Given the description of an element on the screen output the (x, y) to click on. 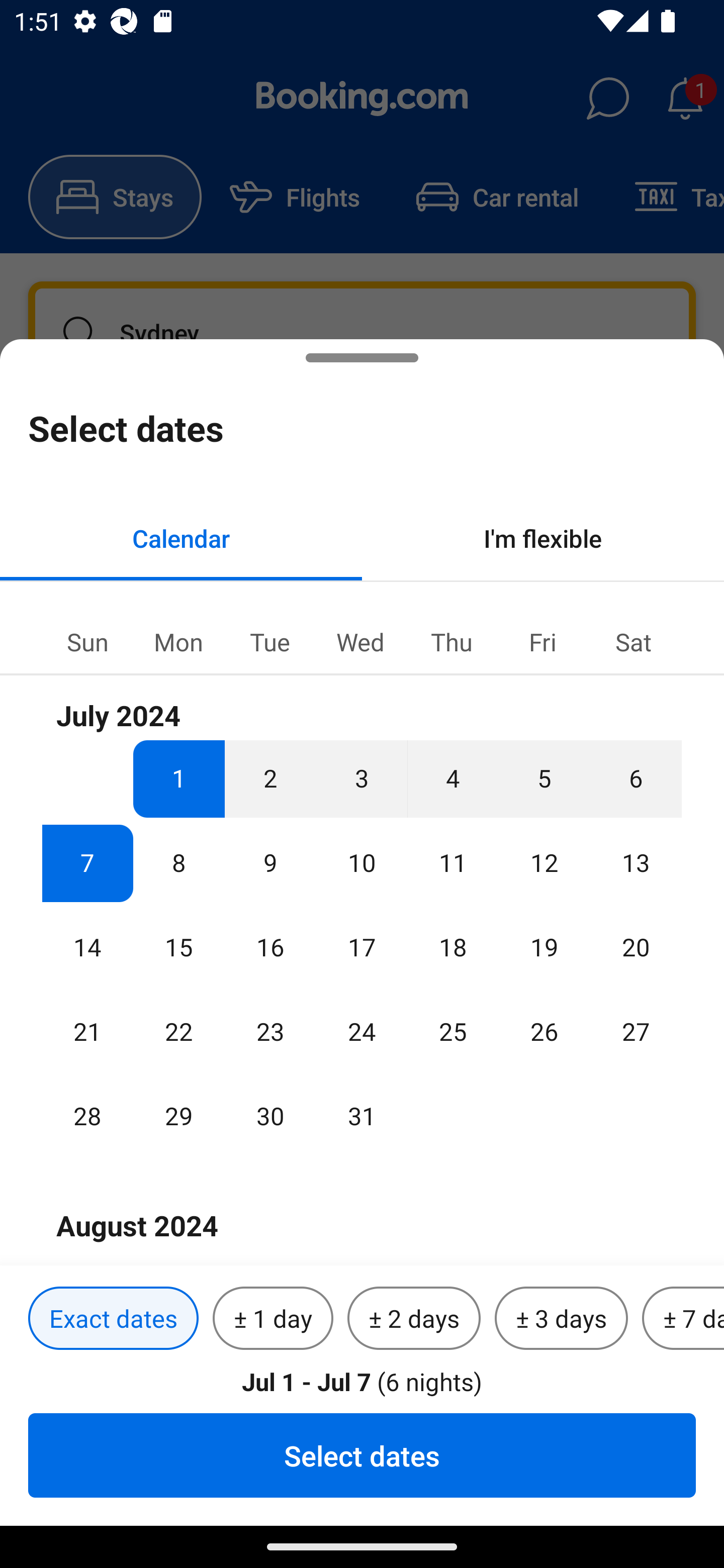
I'm flexible (543, 537)
Exact dates (113, 1318)
± 1 day (272, 1318)
± 2 days (413, 1318)
± 3 days (560, 1318)
± 7 days (683, 1318)
Select dates (361, 1454)
